Given the description of an element on the screen output the (x, y) to click on. 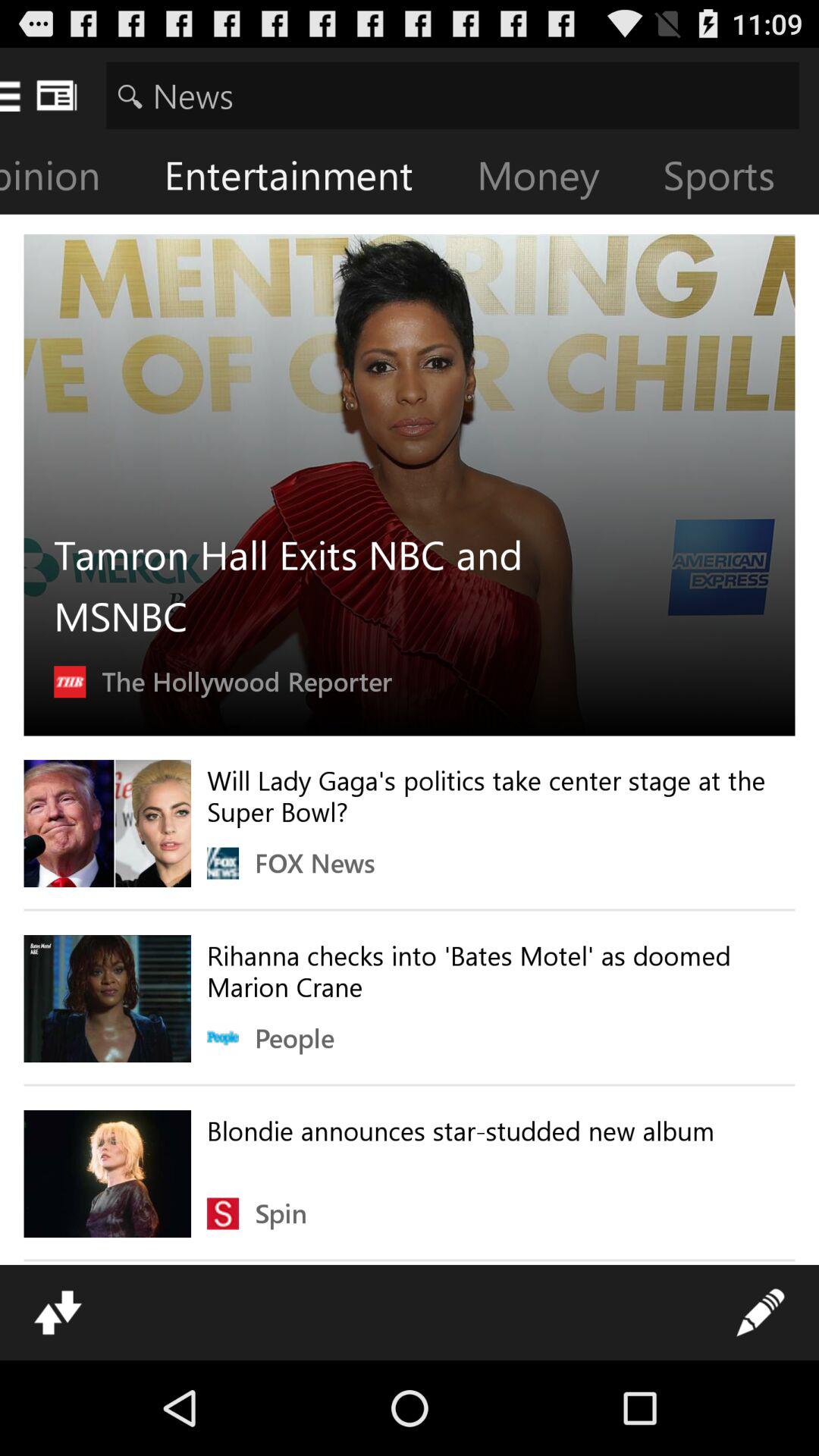
turn on entertainment (300, 178)
